Given the description of an element on the screen output the (x, y) to click on. 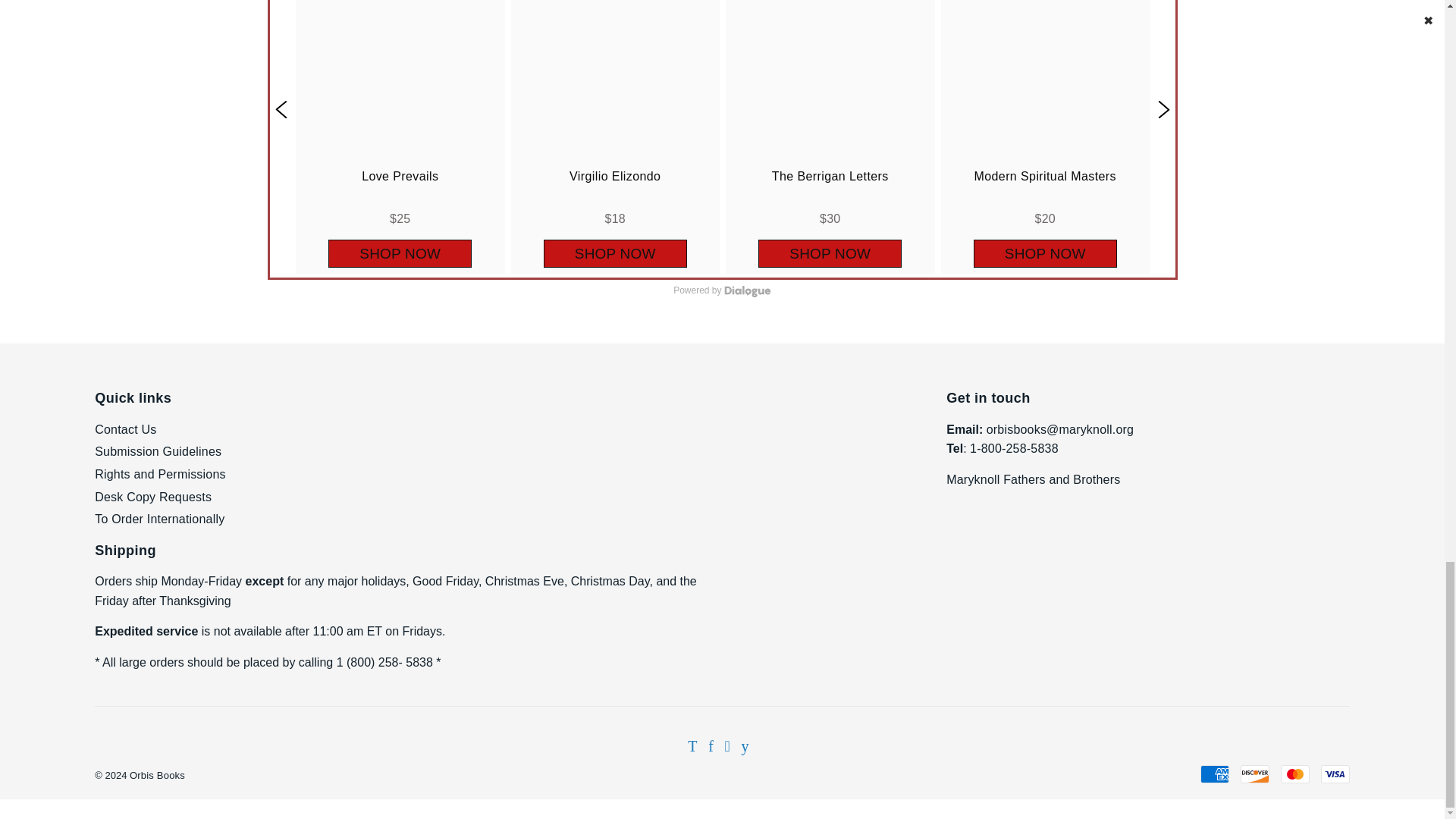
SHOP NOW (400, 253)
Discover (1254, 773)
American Express (1213, 773)
Mastercard (1294, 773)
Visa (1334, 773)
SHOP NOW (829, 253)
SHOP NOW (614, 253)
